Given the description of an element on the screen output the (x, y) to click on. 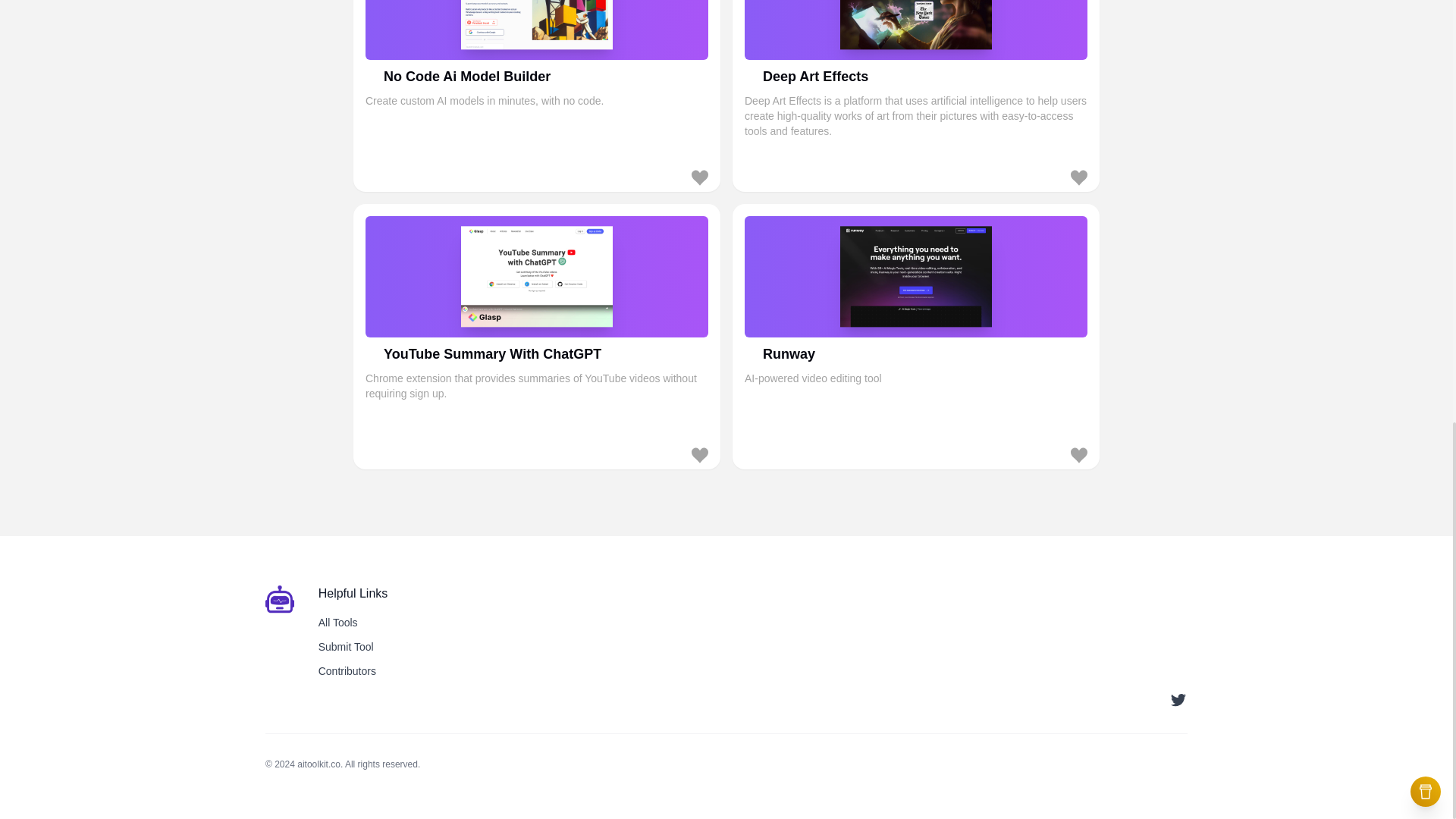
Submit Tool (346, 646)
All Tools (338, 622)
Contributors (346, 671)
Twitter (915, 335)
